Given the description of an element on the screen output the (x, y) to click on. 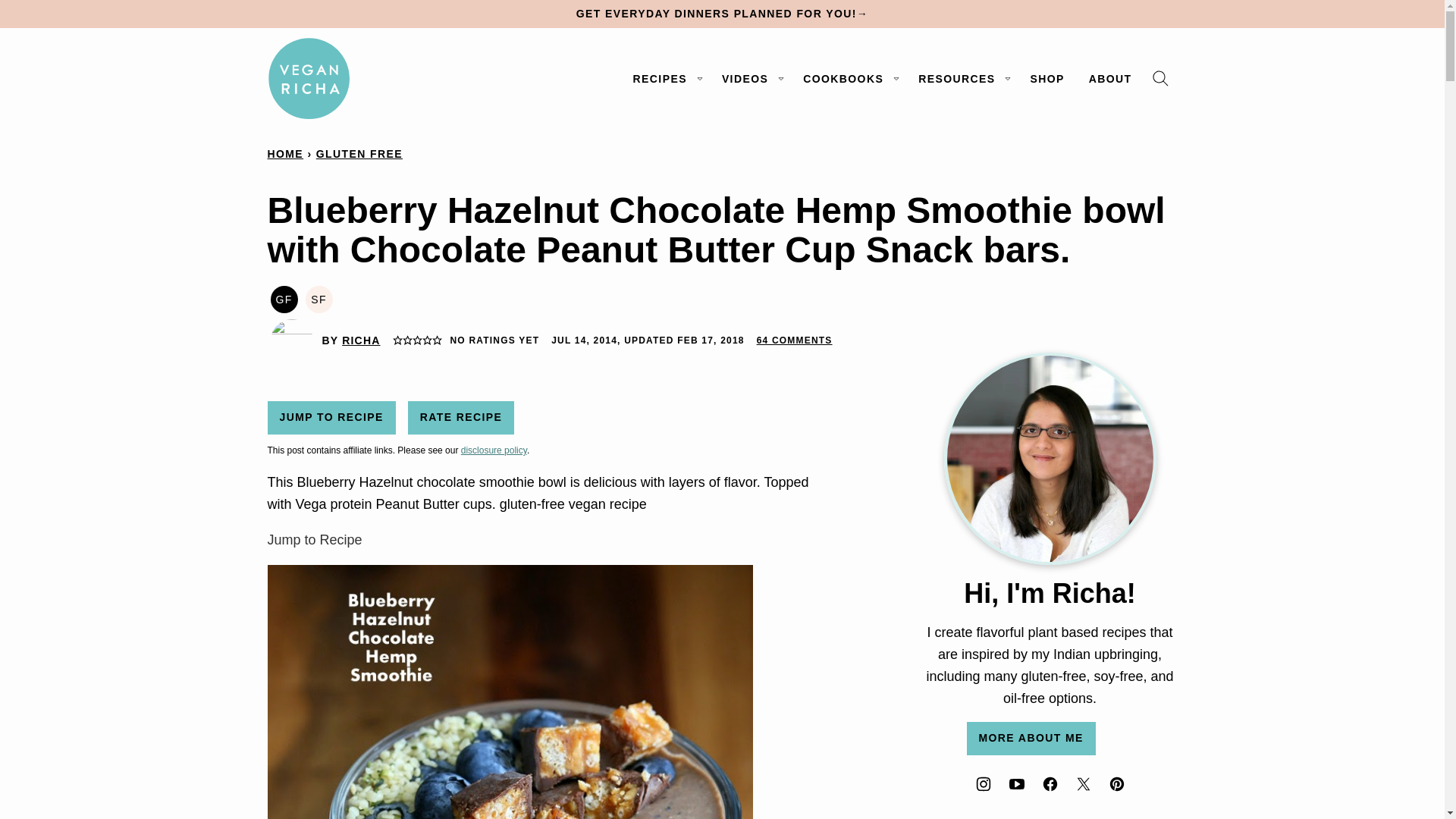
ABOUT (1110, 78)
SHOP (1046, 78)
Gluten Free (282, 299)
RECIPES (665, 78)
VIDEOS (750, 78)
Soy Free (317, 299)
COOKBOOKS (847, 78)
RESOURCES (961, 78)
My Cookbooks (847, 78)
